Given the description of an element on the screen output the (x, y) to click on. 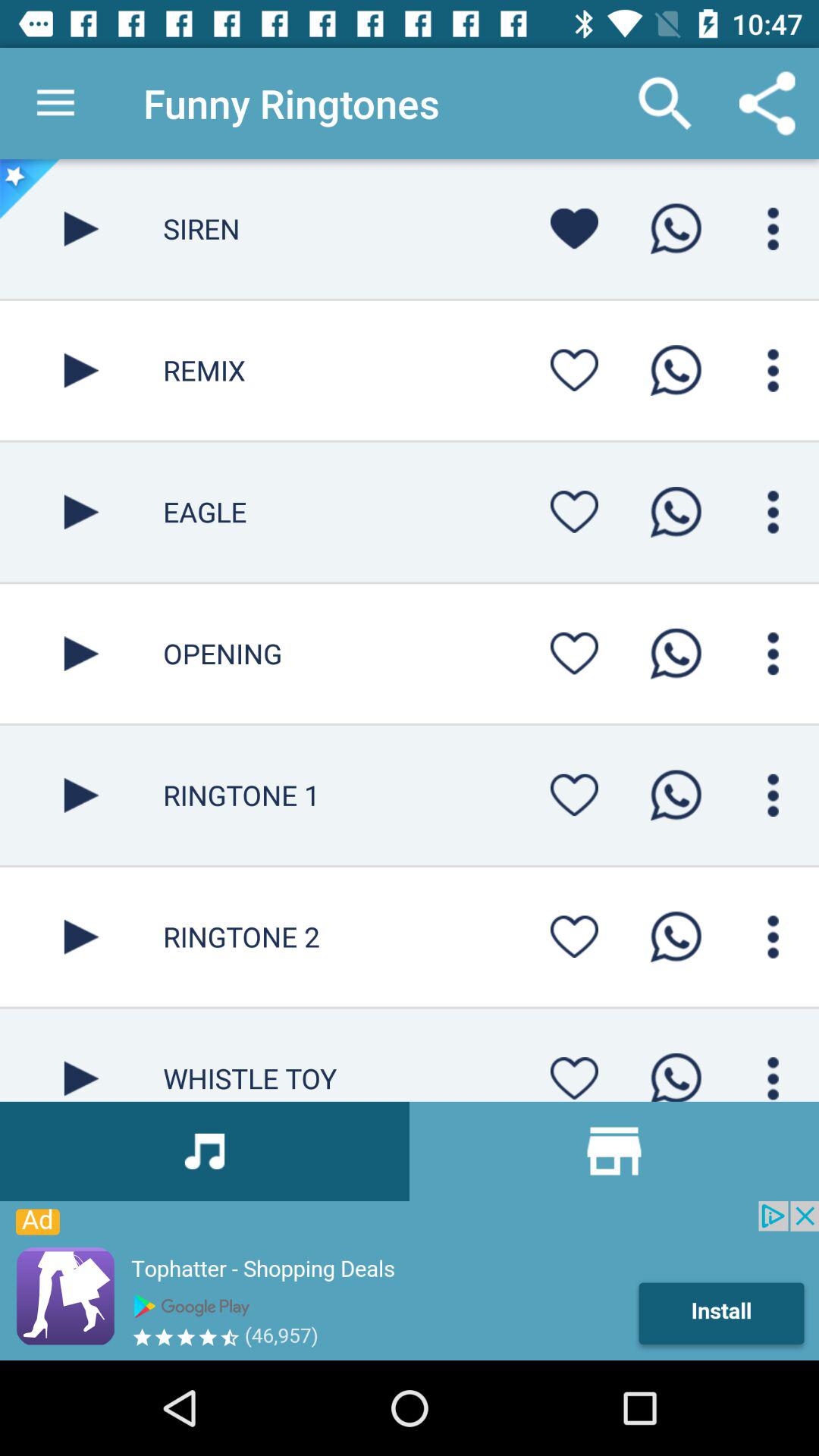
go to advertisement (409, 1280)
